Given the description of an element on the screen output the (x, y) to click on. 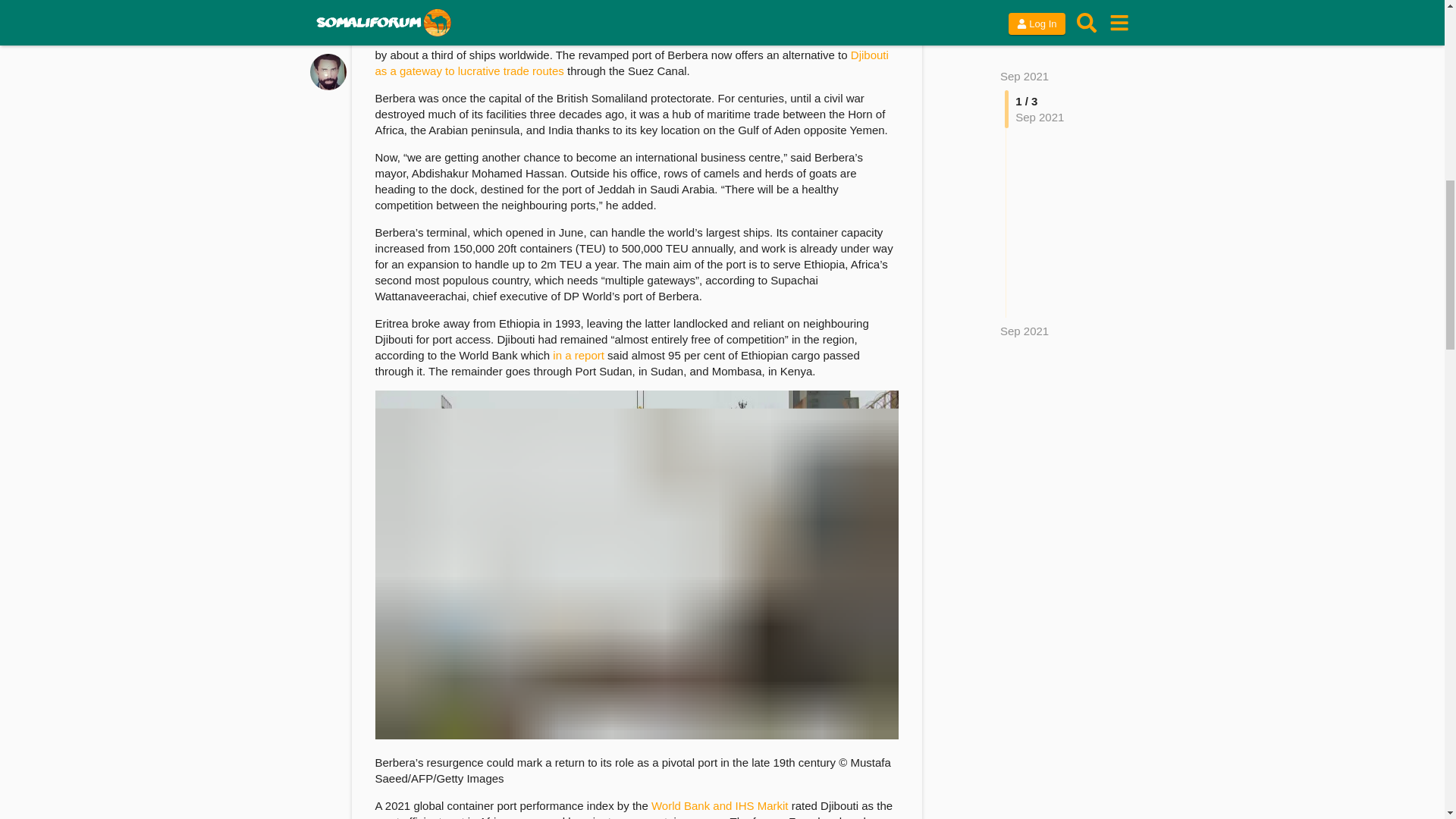
Djibouti as a gateway to lucrative trade routes (631, 62)
in a report (578, 354)
World Bank and IHS Markit (719, 805)
